Given the description of an element on the screen output the (x, y) to click on. 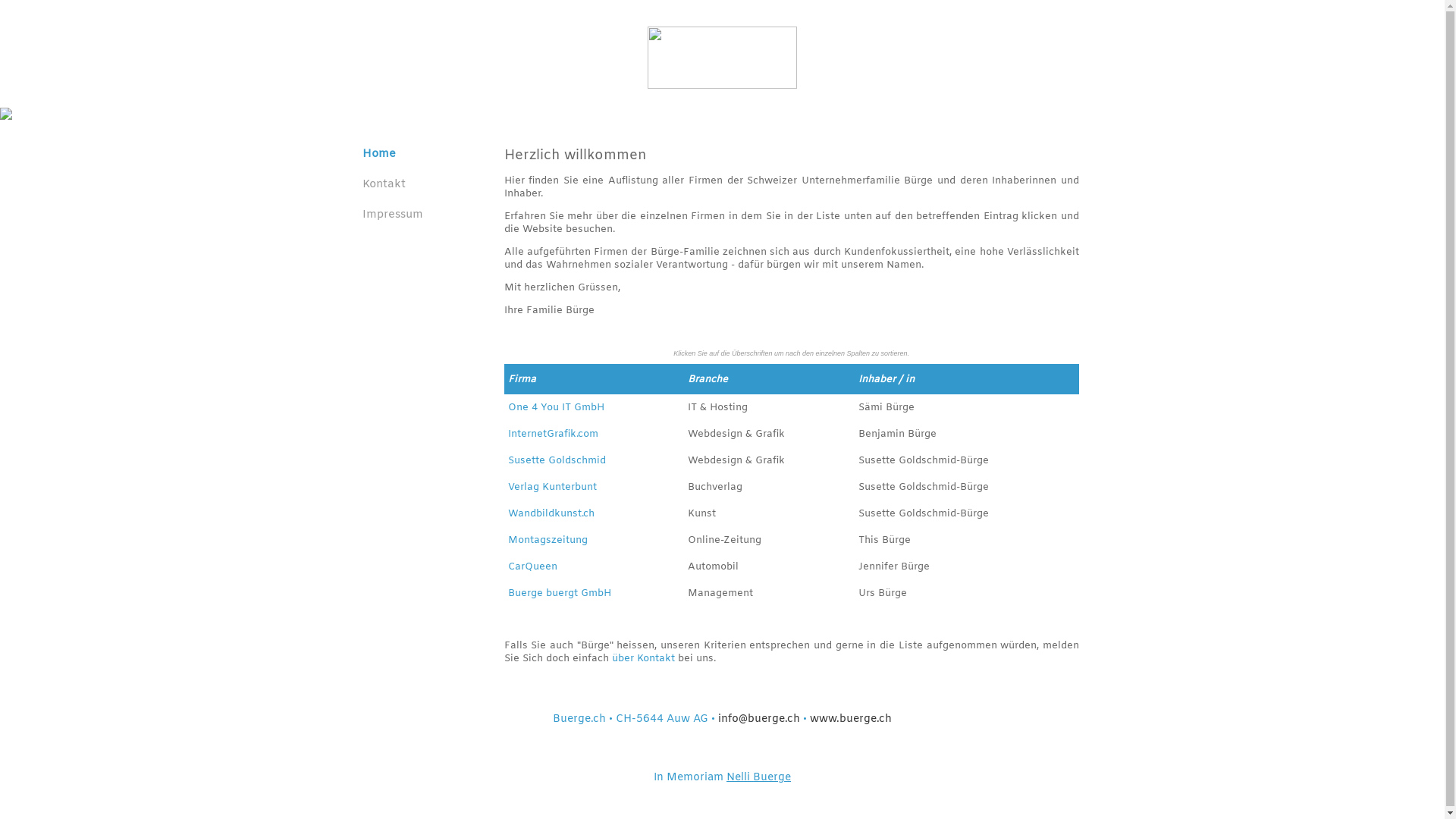
www.buerge.ch Element type: text (850, 719)
Buerge buergt GmbH Element type: text (559, 592)
Verlag Kunterbunt Element type: text (552, 486)
Impressum Element type: text (392, 214)
Wandbildkunst.ch Element type: text (551, 513)
In Memoriam Nelli Buerge Element type: text (721, 777)
Kontakt Element type: text (383, 183)
Home Element type: text (378, 153)
Montagszeitung Element type: text (547, 539)
Susette Goldschmid Element type: text (556, 460)
InternetGrafik.com Element type: text (553, 433)
CarQueen Element type: text (532, 566)
info@buerge.ch Element type: text (757, 719)
One 4 You IT GmbH Element type: text (556, 407)
